Given the description of an element on the screen output the (x, y) to click on. 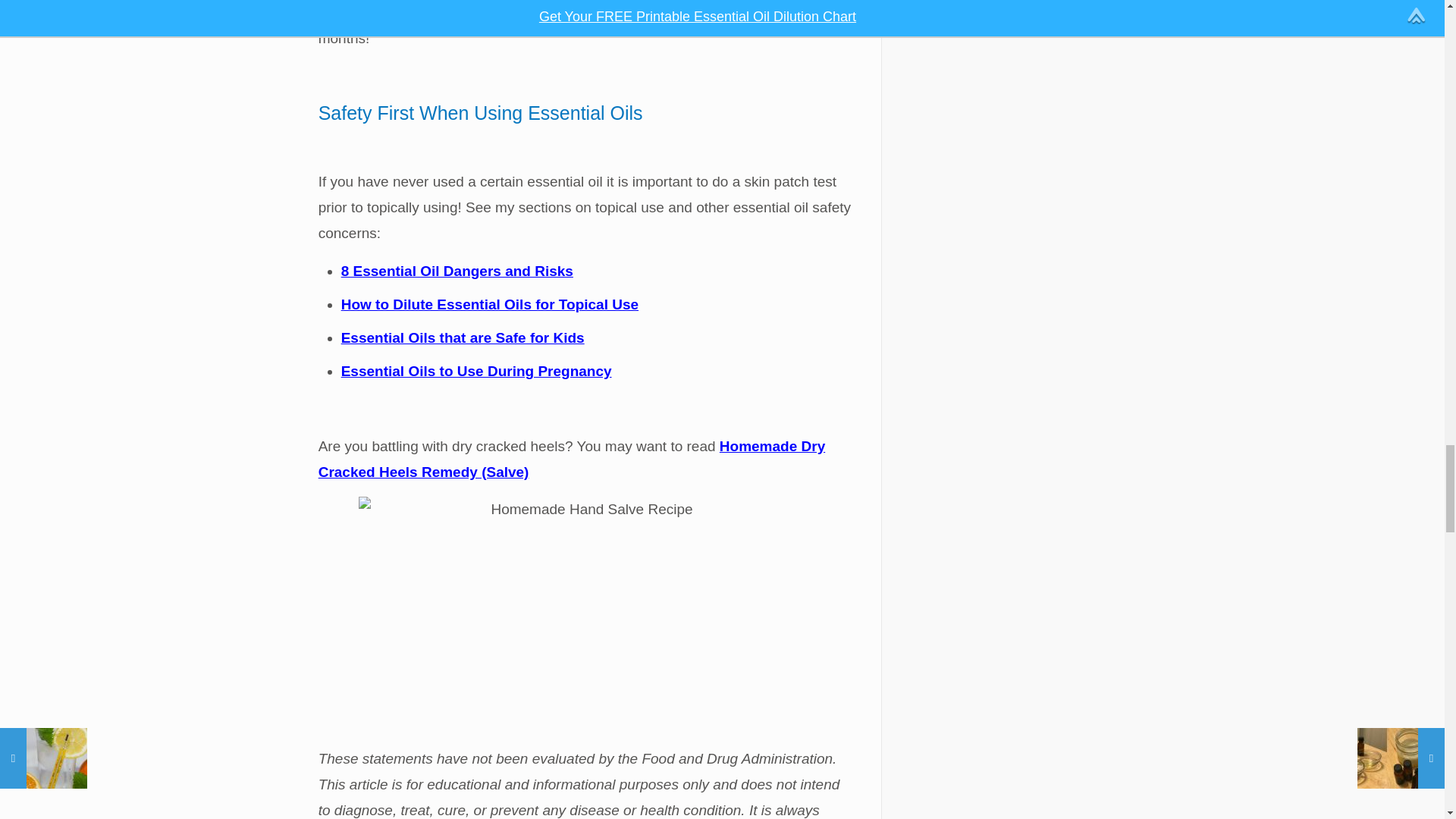
How to Dilute Essential Oils for Topical Use (489, 304)
Essential Oils that are Safe for Kids (462, 337)
Essential Oils to Use During Pregnancy (475, 371)
8 Essential Oil Dangers and Risks (456, 270)
